Given the description of an element on the screen output the (x, y) to click on. 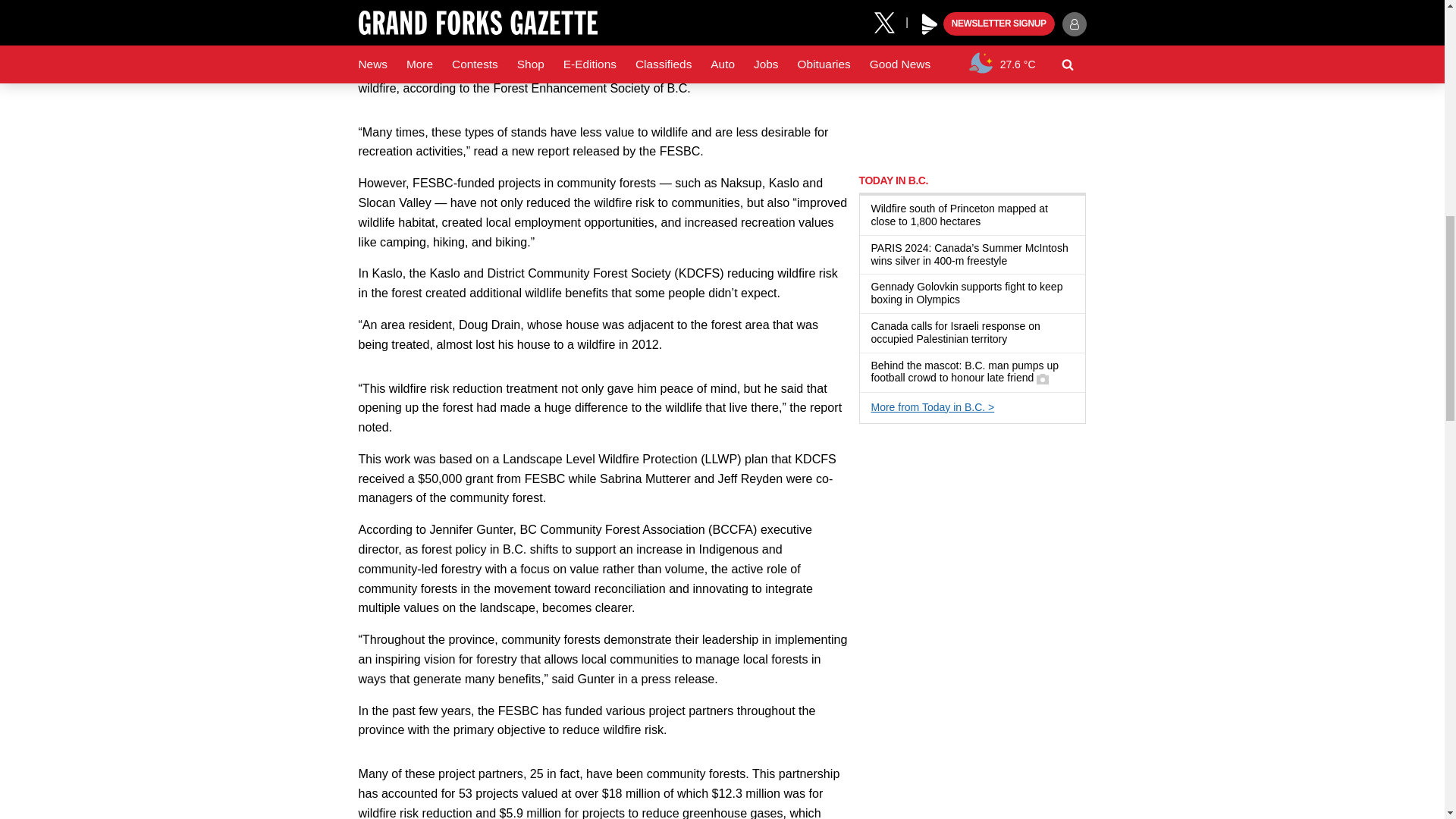
Has a gallery (1042, 378)
